Given the description of an element on the screen output the (x, y) to click on. 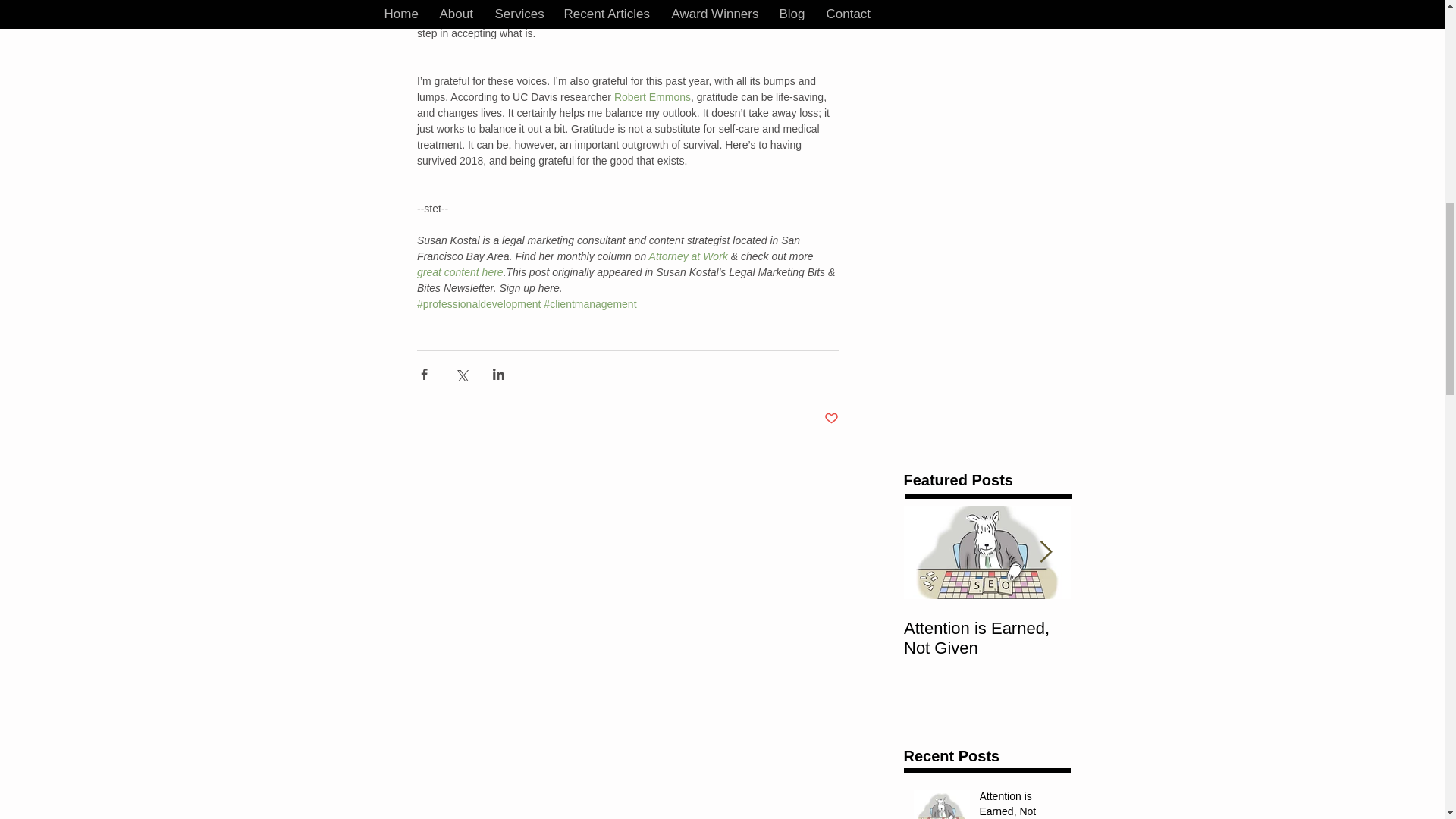
Attention is Earned, Not Given (1020, 804)
great content here (459, 272)
Attorney at Work  (688, 256)
Post not marked as liked (831, 418)
Stop Saying "I'm Sorry." (1153, 638)
Robert Emmons (651, 96)
Attention is Earned, Not Given (987, 638)
